Given the description of an element on the screen output the (x, y) to click on. 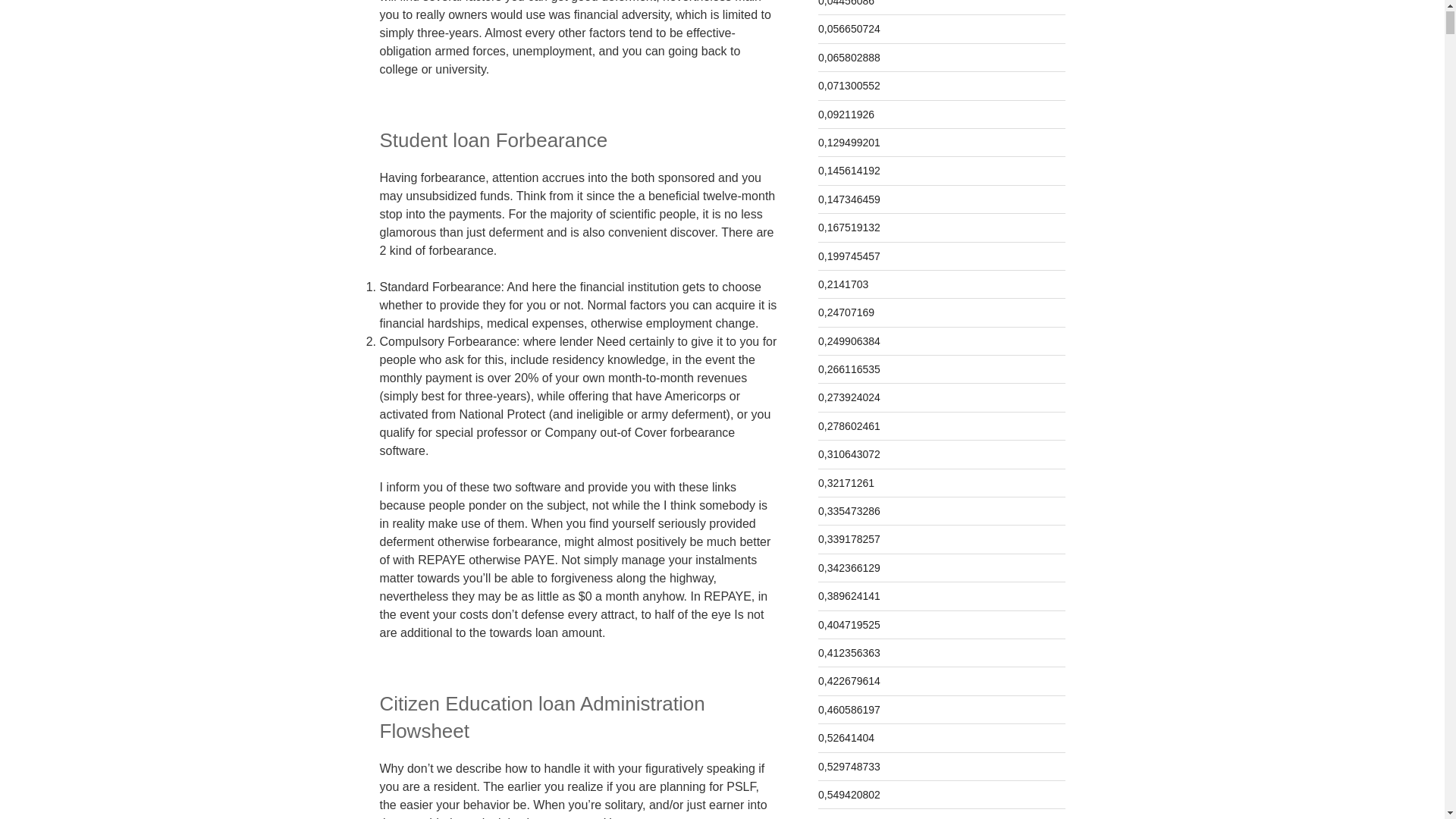
0,056650724 (849, 28)
0,065802888 (849, 57)
0,04456086 (846, 3)
0,071300552 (849, 85)
